Given the description of an element on the screen output the (x, y) to click on. 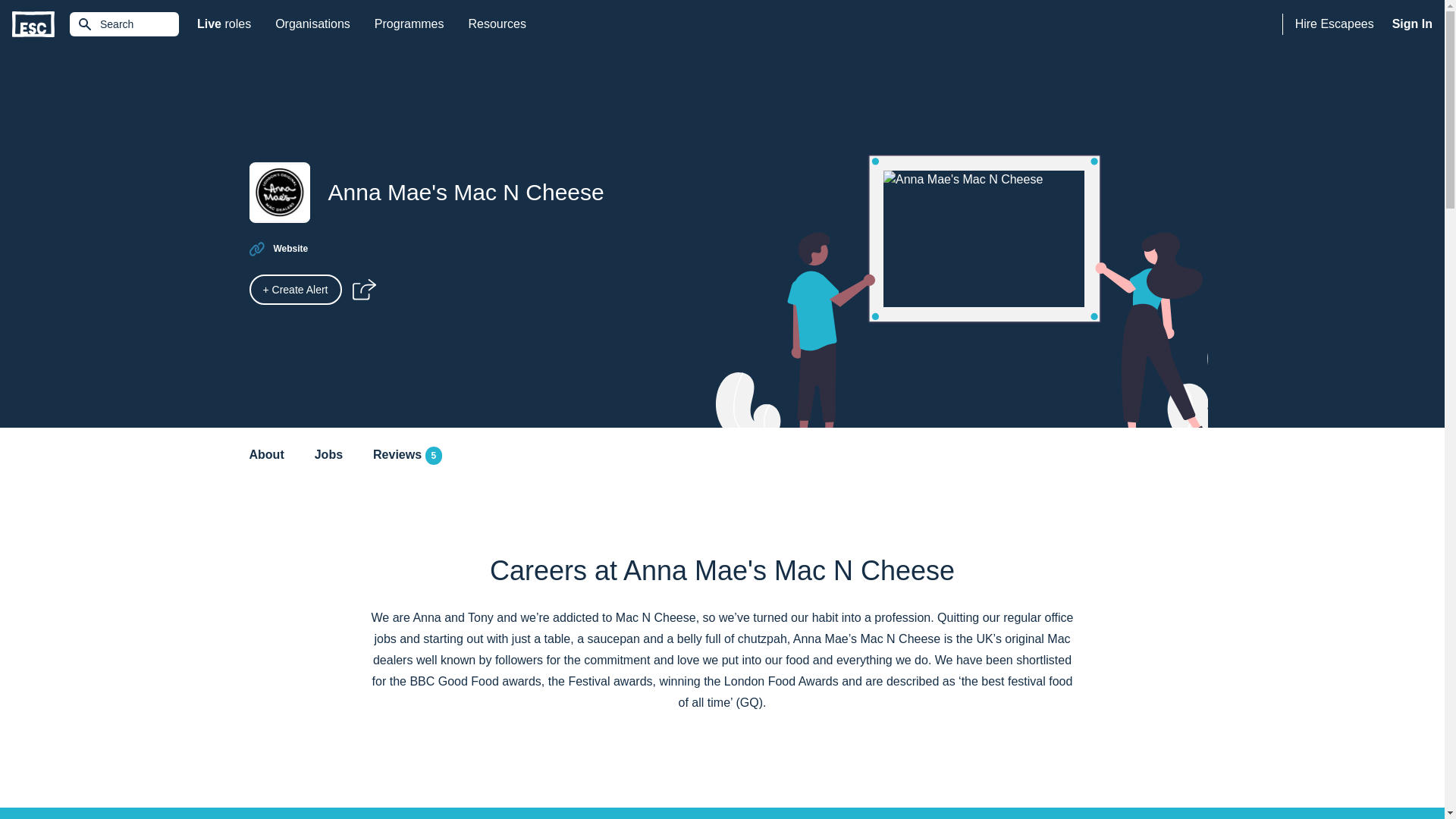
Sign In (1411, 24)
Search (124, 24)
Escape the City (407, 455)
Hire Escapees (33, 24)
Resources (1334, 24)
Organisations (496, 24)
Website (312, 24)
Programmes (290, 248)
